Given the description of an element on the screen output the (x, y) to click on. 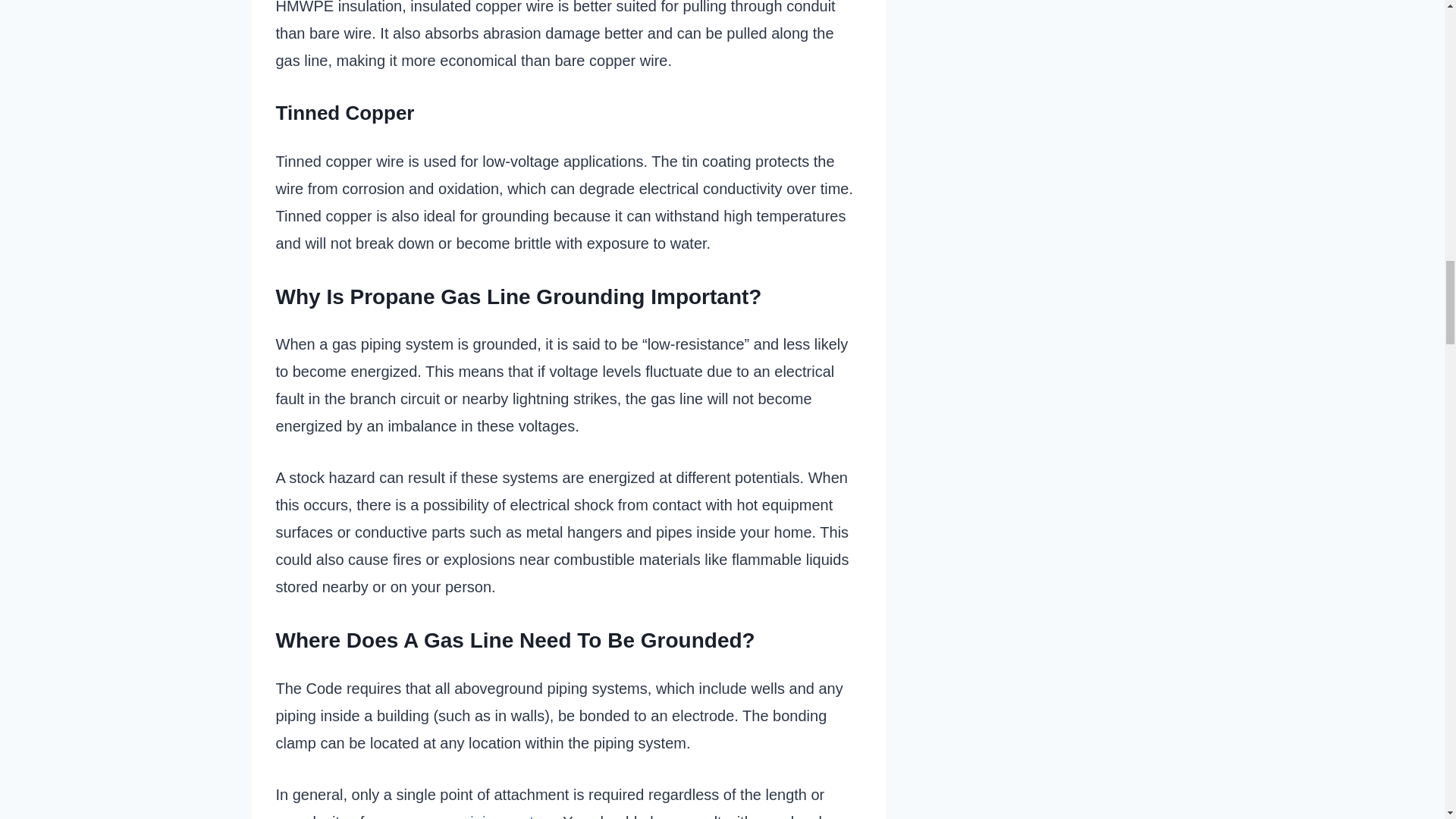
propane piping system (477, 816)
